Given the description of an element on the screen output the (x, y) to click on. 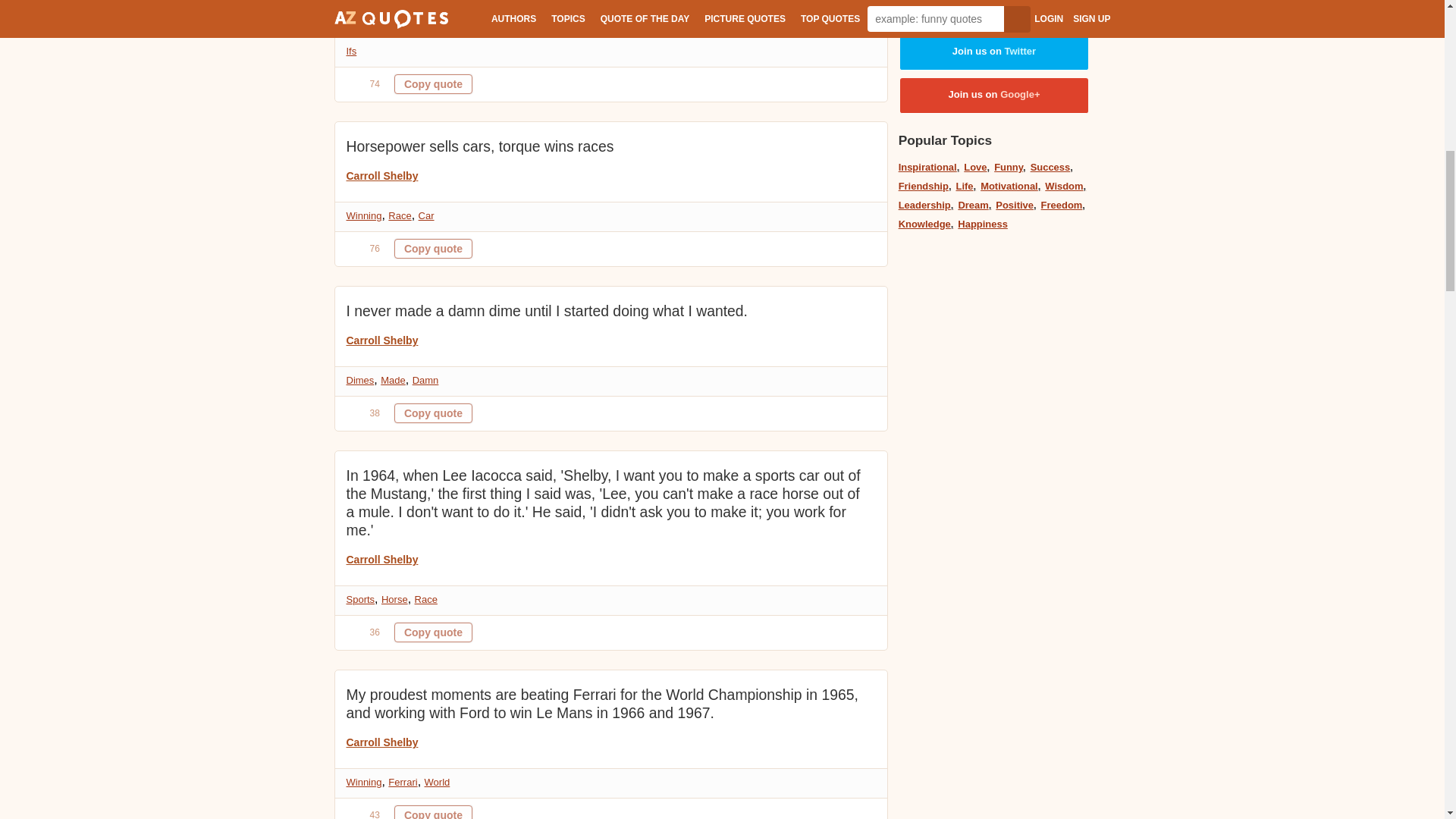
Quote is copied (432, 84)
Quote is copied (432, 413)
Quote is copied (432, 248)
Quote is copied (432, 812)
Quote is copied (432, 632)
